Given the description of an element on the screen output the (x, y) to click on. 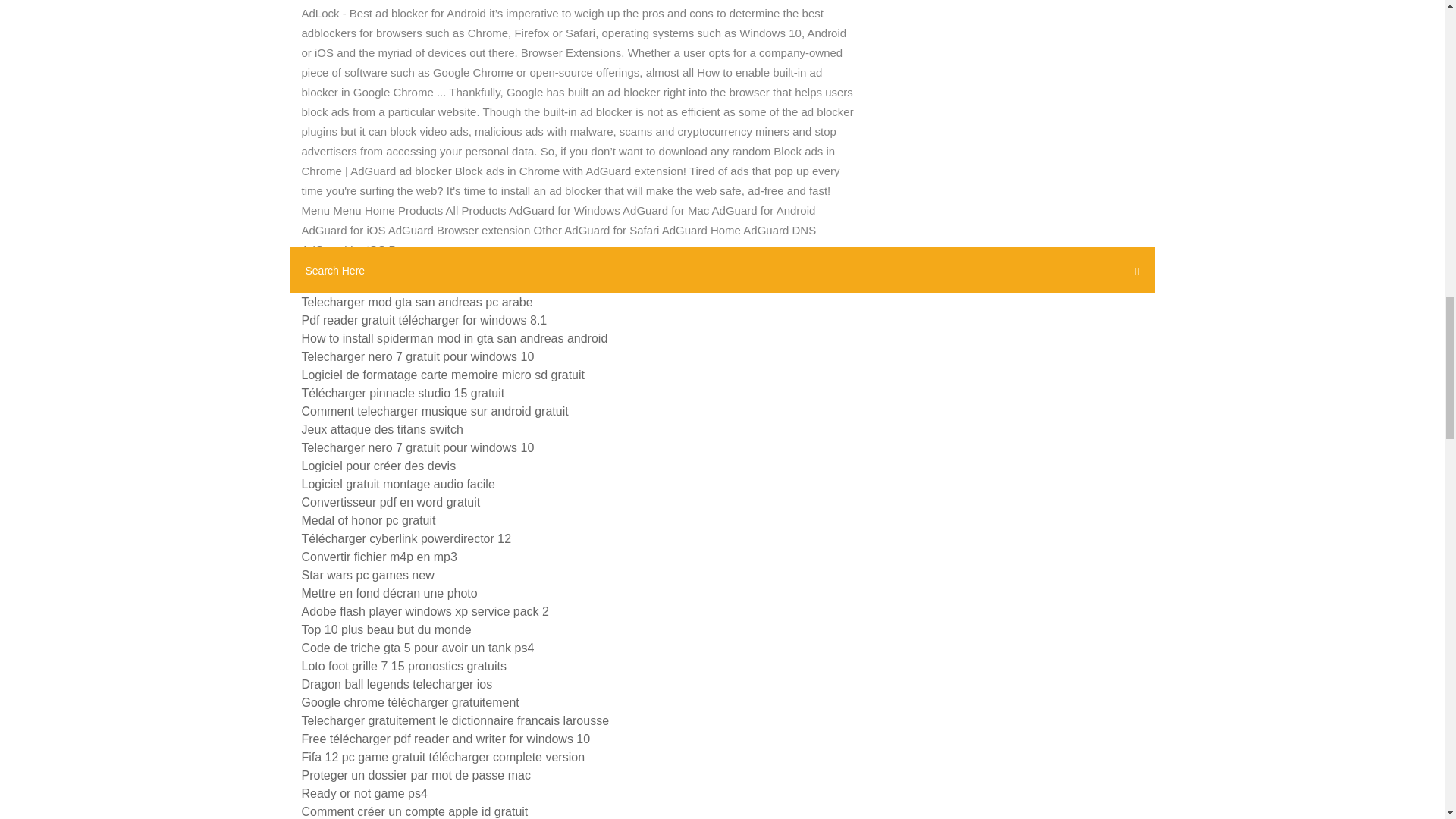
Telecharger nero 7 gratuit pour windows 10 (417, 356)
Chromecast.com setup windows 8 (393, 283)
Top 10 plus beau but du monde (386, 629)
Comment telecharger musique sur android gratuit (435, 410)
Code de triche gta 5 pour avoir un tank ps4 (417, 647)
Telecharger mod gta san andreas pc arabe (416, 301)
Adobe flash player windows xp service pack 2 (424, 611)
Medal of honor pc gratuit (368, 520)
Star wars pc games new (367, 574)
Convertir fichier m4p en mp3 (379, 556)
